Given the description of an element on the screen output the (x, y) to click on. 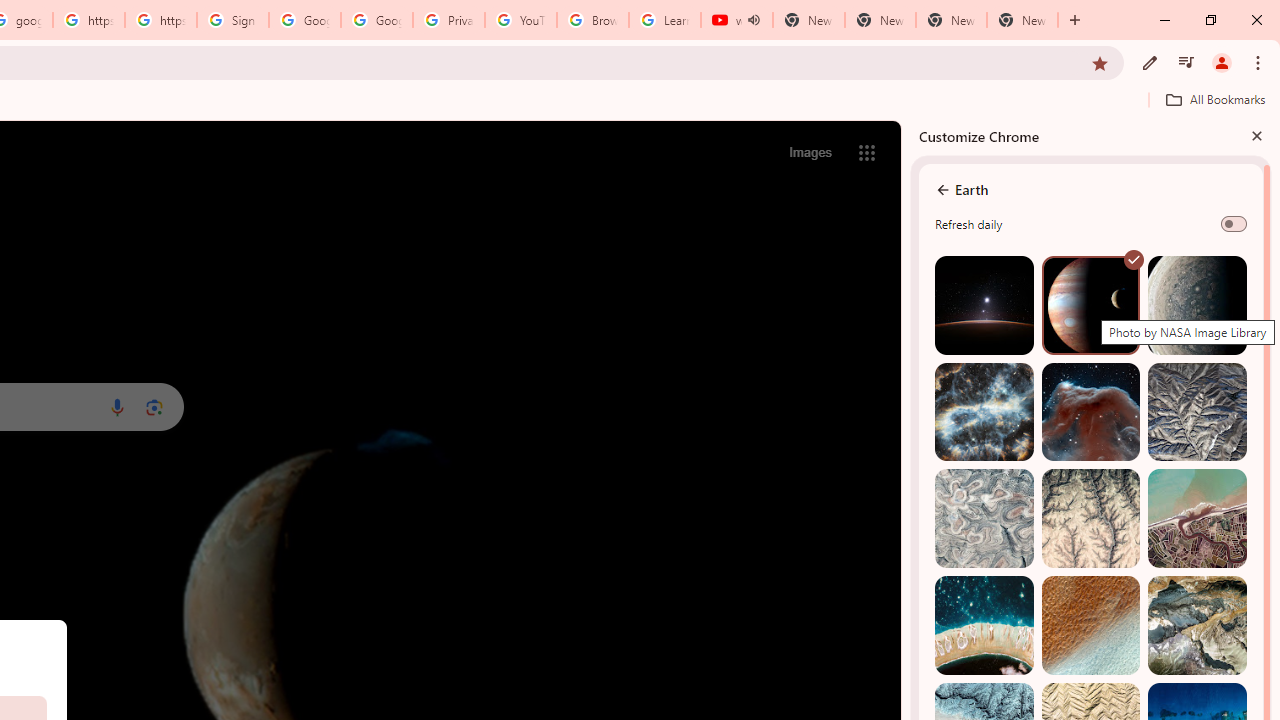
https://scholar.google.com/ (161, 20)
AutomationID: svg (1134, 259)
Refresh daily (1233, 223)
Nanggroe Aceh Darussalam, Indonesia (1197, 518)
The Tuamotu and Gambier Islands, French Polynesia (984, 625)
https://scholar.google.com/ (88, 20)
